Given the description of an element on the screen output the (x, y) to click on. 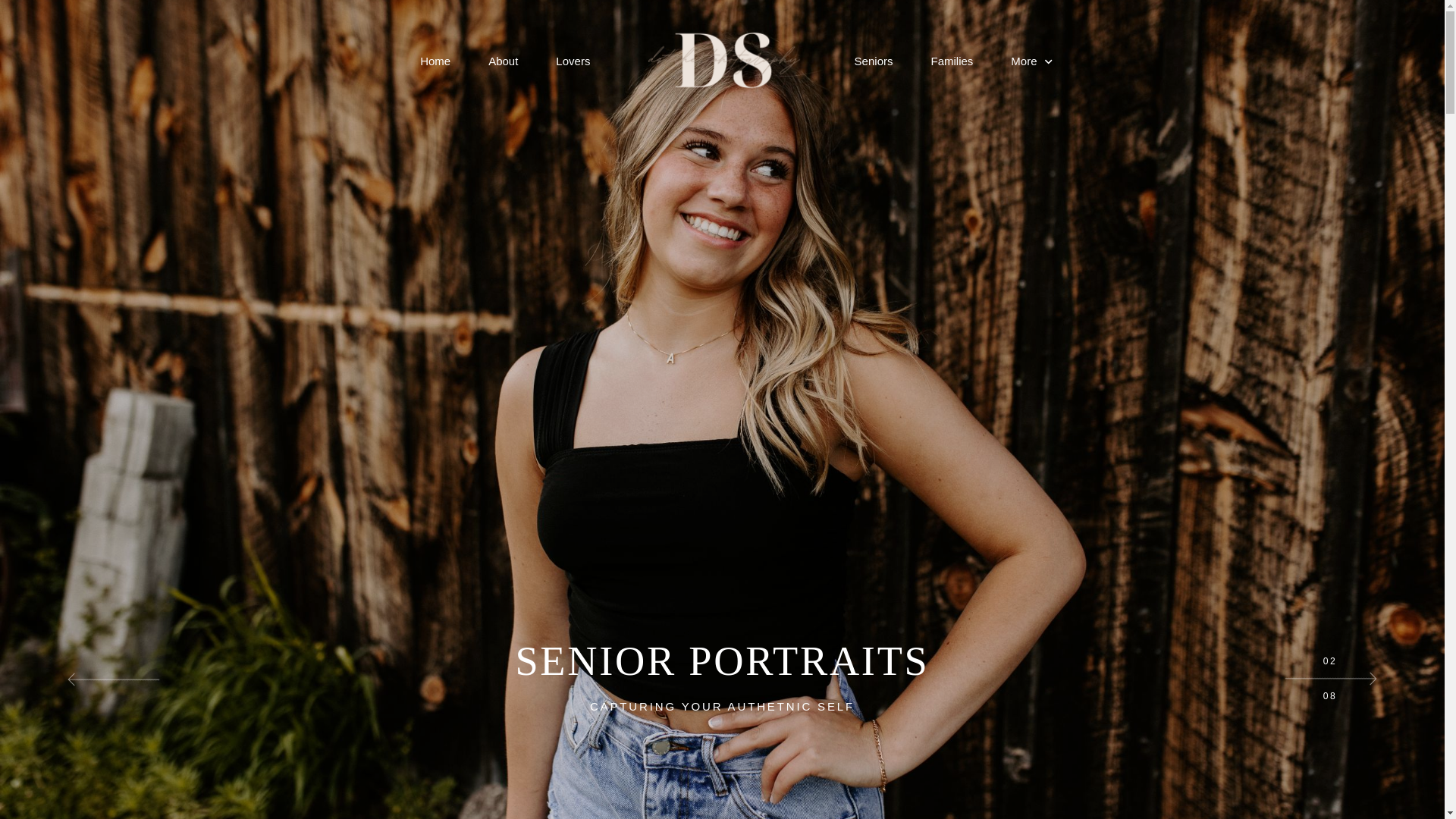
Home (434, 61)
Families (951, 61)
About (502, 61)
Lovers (572, 61)
More (1030, 61)
Seniors (873, 61)
